Given the description of an element on the screen output the (x, y) to click on. 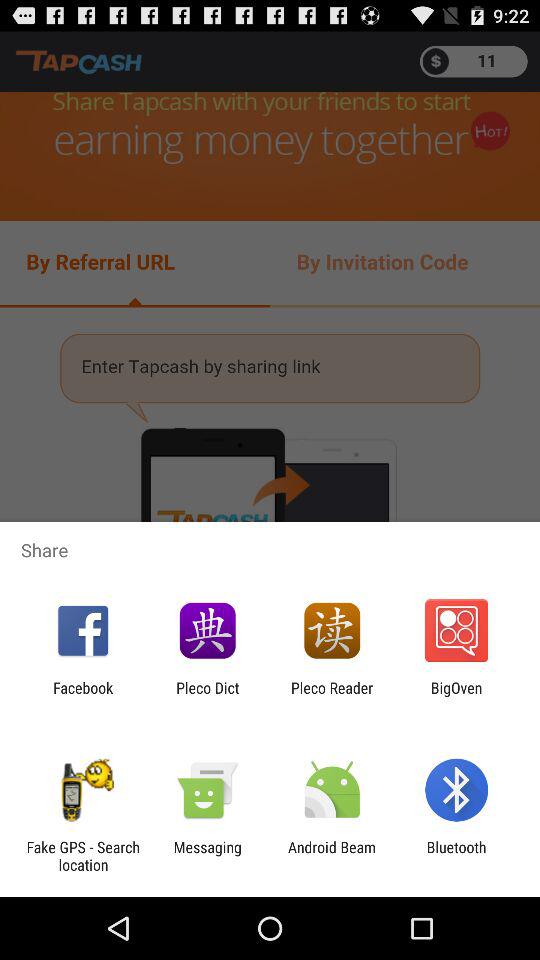
press icon next to the android beam icon (456, 856)
